Given the description of an element on the screen output the (x, y) to click on. 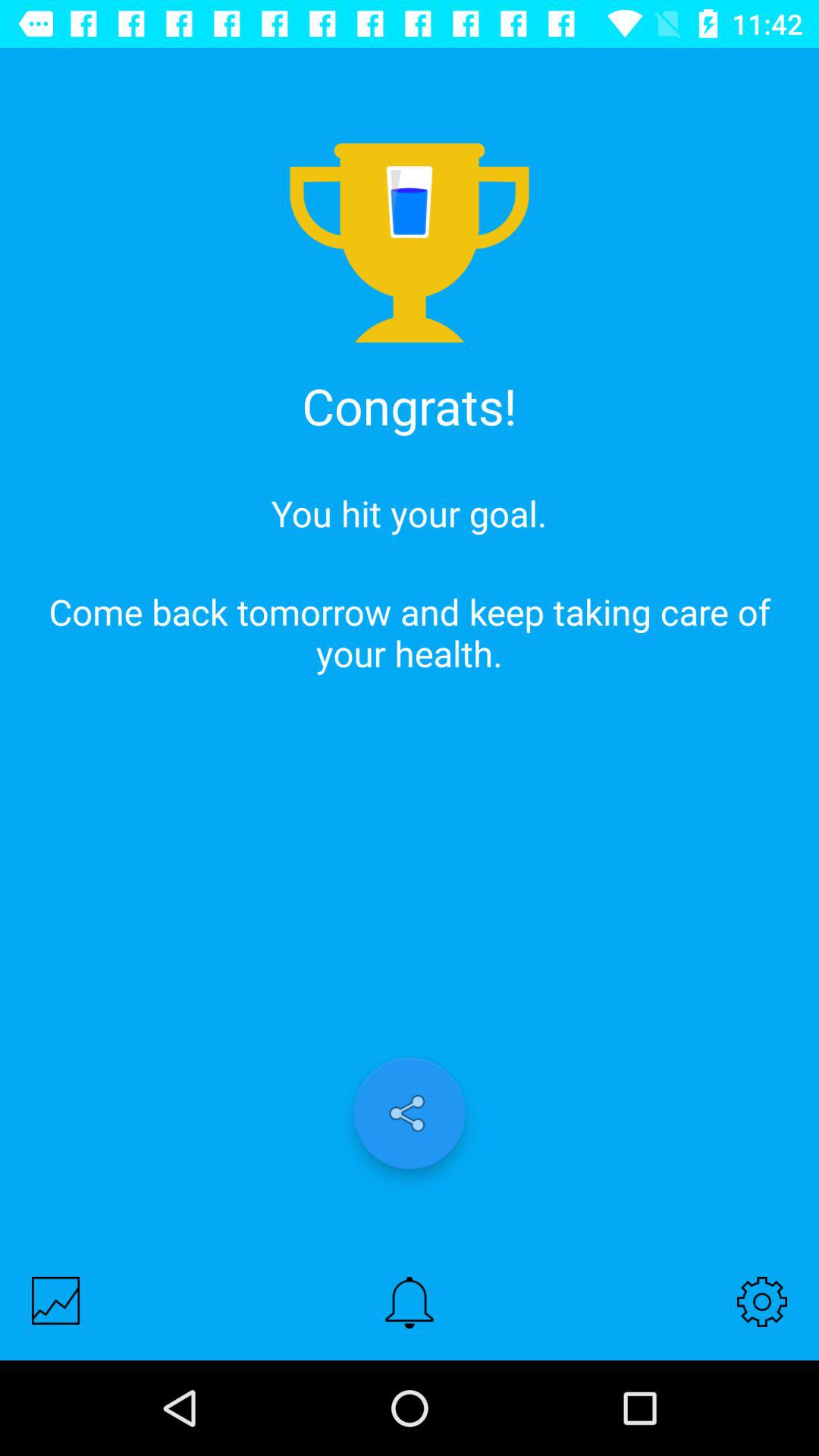
share to social media (409, 1113)
